Given the description of an element on the screen output the (x, y) to click on. 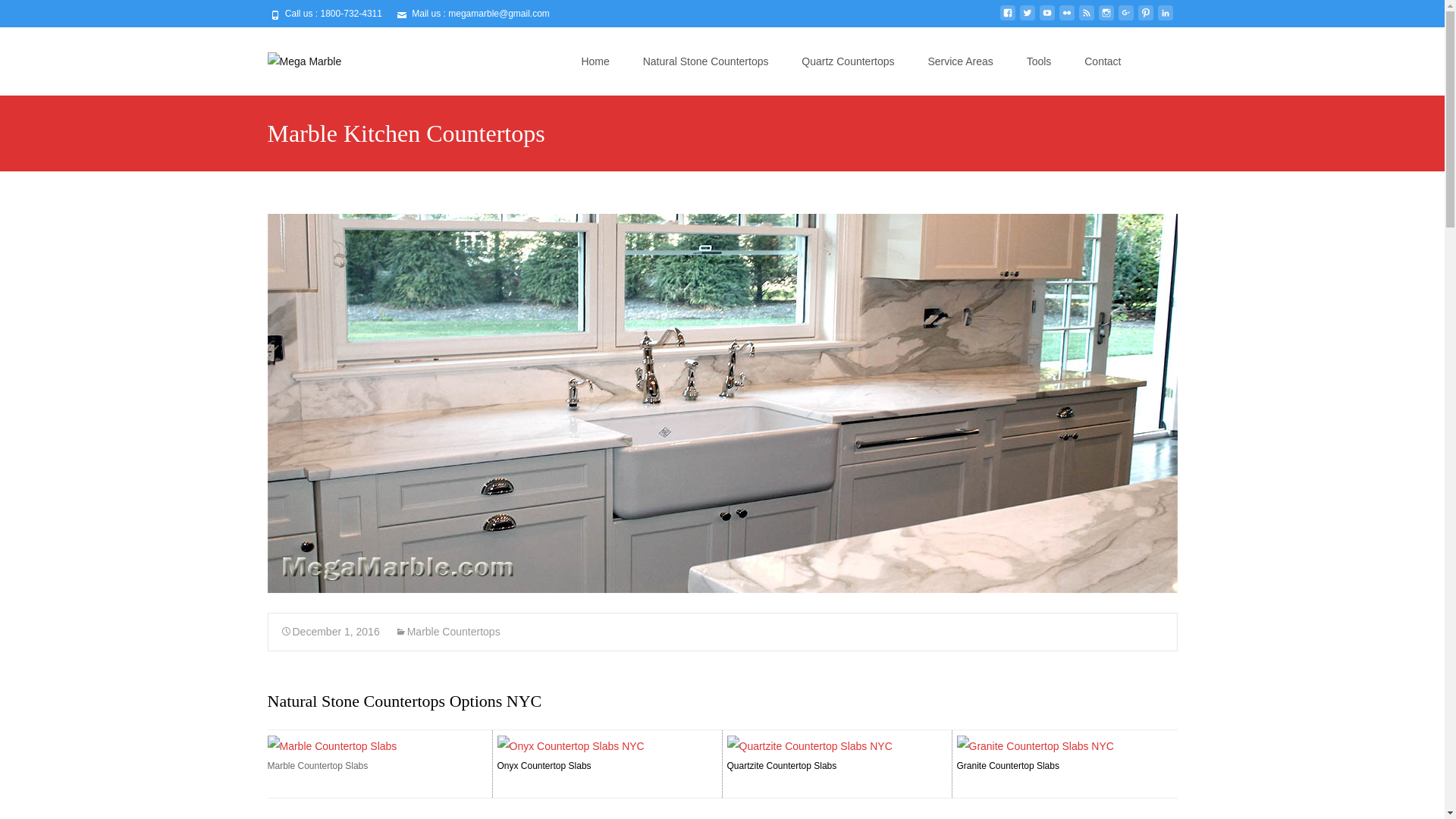
instagram (1105, 19)
Natural Stone Countertops (705, 61)
youtube (1046, 19)
googleplus (1125, 19)
linkedin (1164, 19)
Quartz Countertops (847, 61)
Search for: (1163, 62)
Mega Marble (291, 57)
feed (1085, 19)
twitter (1026, 19)
Service Areas (959, 61)
flickr (1066, 19)
